Given the description of an element on the screen output the (x, y) to click on. 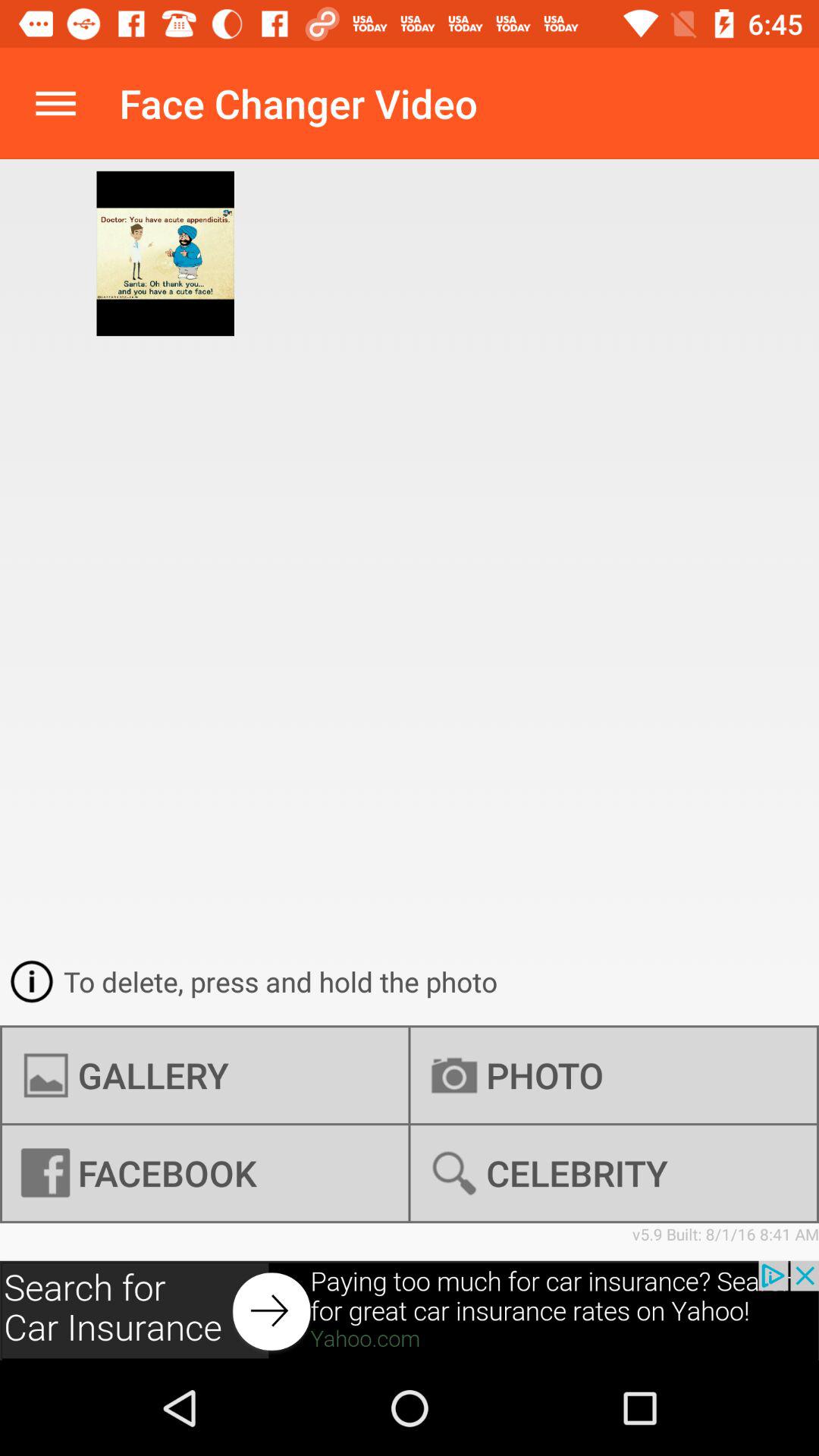
advertisement page (409, 1310)
